Given the description of an element on the screen output the (x, y) to click on. 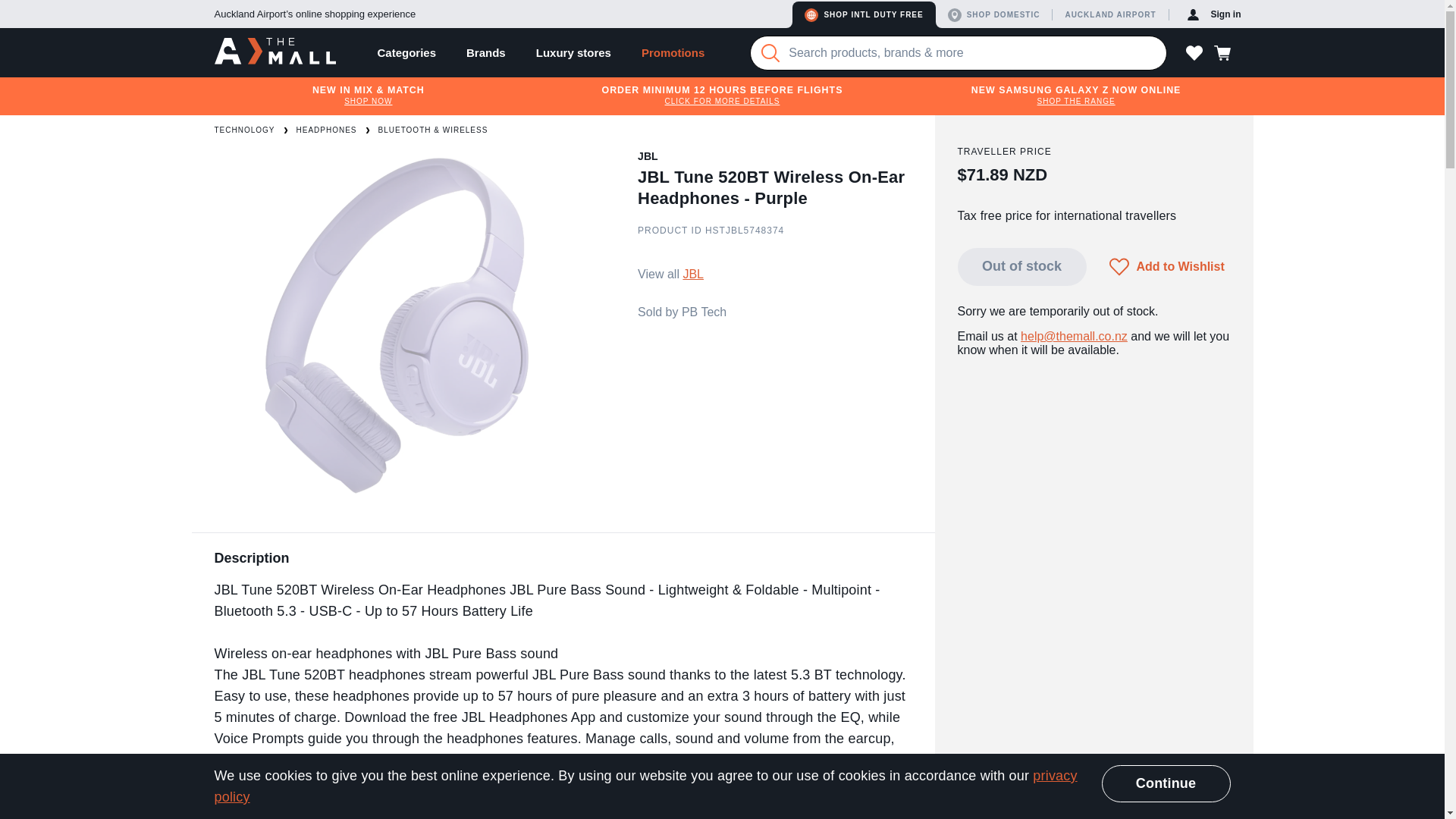
SHOP DOMESTIC (997, 14)
SHOP INTL DUTY FREE (863, 14)
AUCKLAND AIRPORT (1112, 14)
Sign in (1213, 14)
Categories (406, 51)
